Given the description of an element on the screen output the (x, y) to click on. 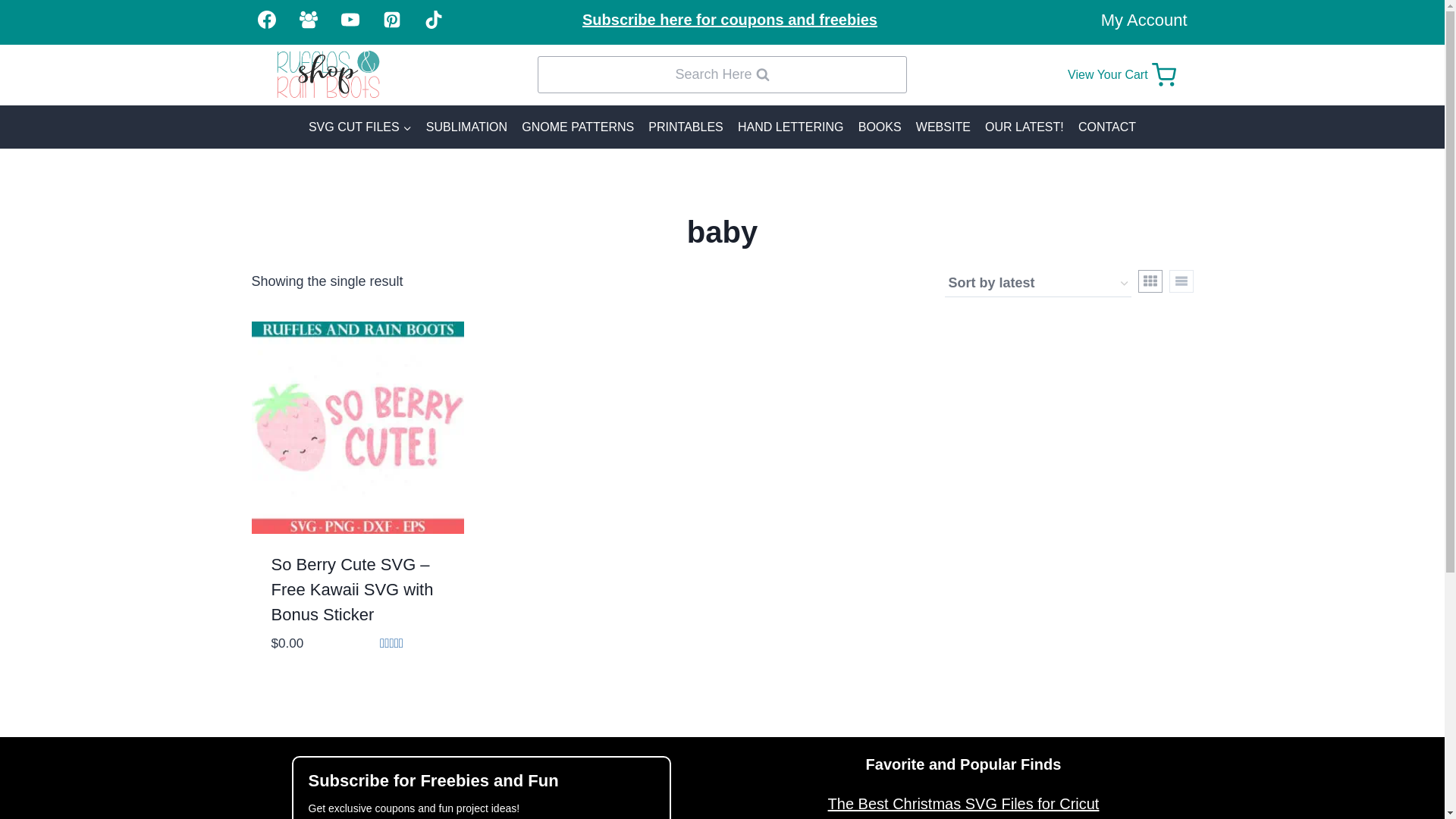
Search Here (721, 74)
My Account (1144, 20)
List View (1181, 281)
Subscribe here for coupons and freebies (1129, 74)
Grid View (729, 19)
SVG CUT FILES (1149, 281)
